Given the description of an element on the screen output the (x, y) to click on. 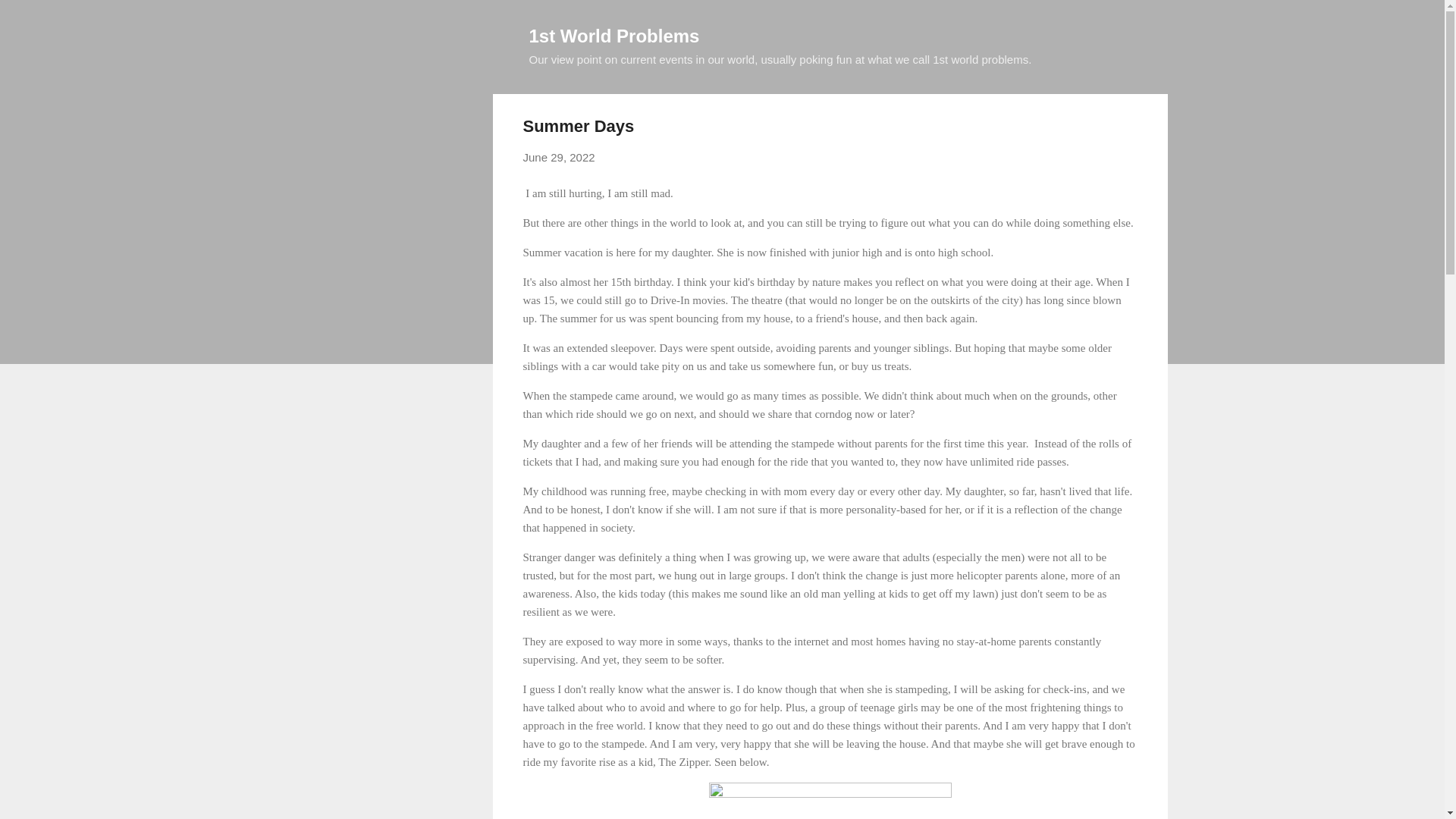
1st World Problems (614, 35)
June 29, 2022 (558, 156)
permanent link (558, 156)
Search (29, 18)
